Given the description of an element on the screen output the (x, y) to click on. 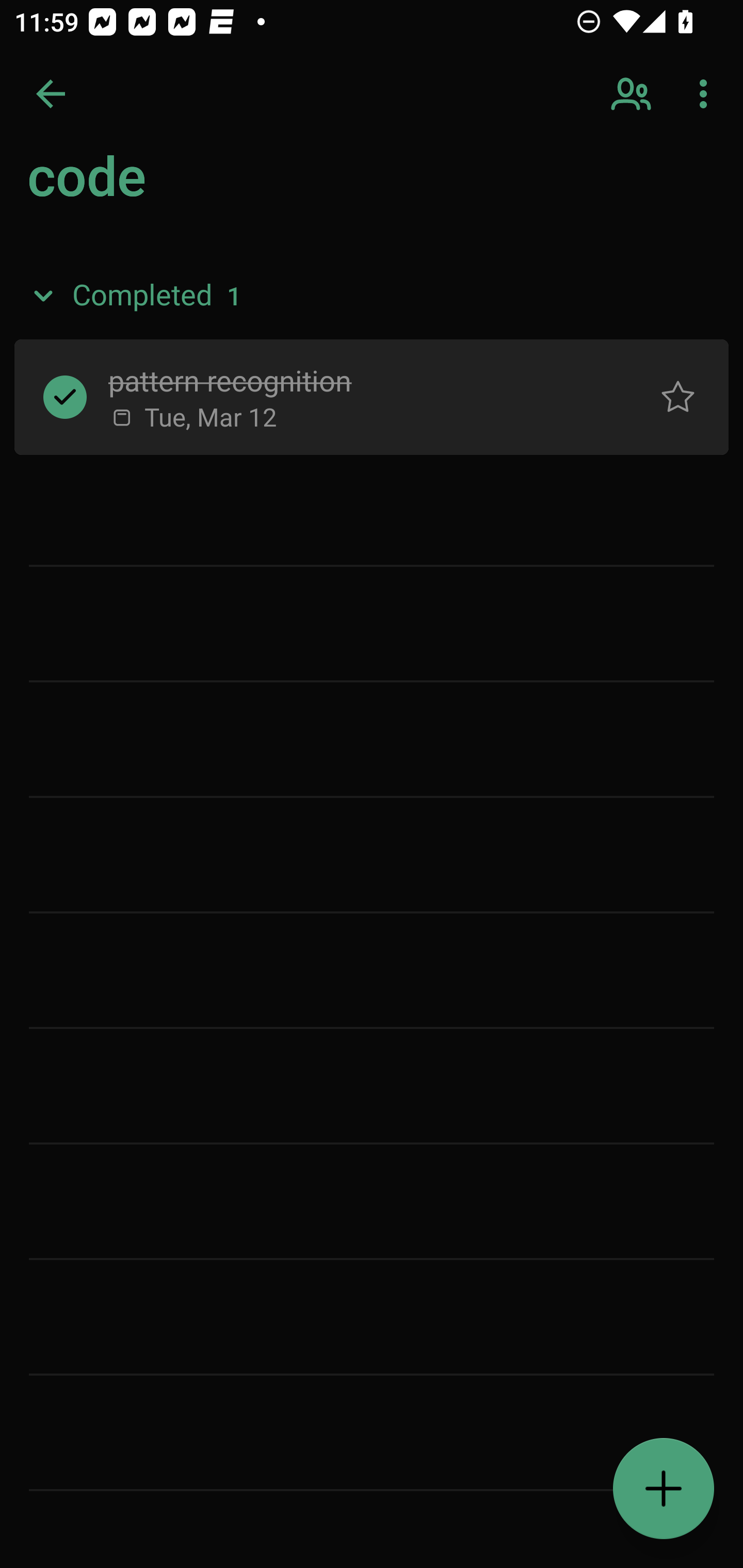
Back (50, 93)
Sharing options (632, 93)
More options (706, 93)
My Day, 0 tasks (182, 187)
Important, 0 tasks (182, 274)
Completed task pattern recognition, Button (64, 397)
Normal task pattern recognition, Button (677, 397)
pattern recognition (356, 379)
Add a task (663, 1488)
